Given the description of an element on the screen output the (x, y) to click on. 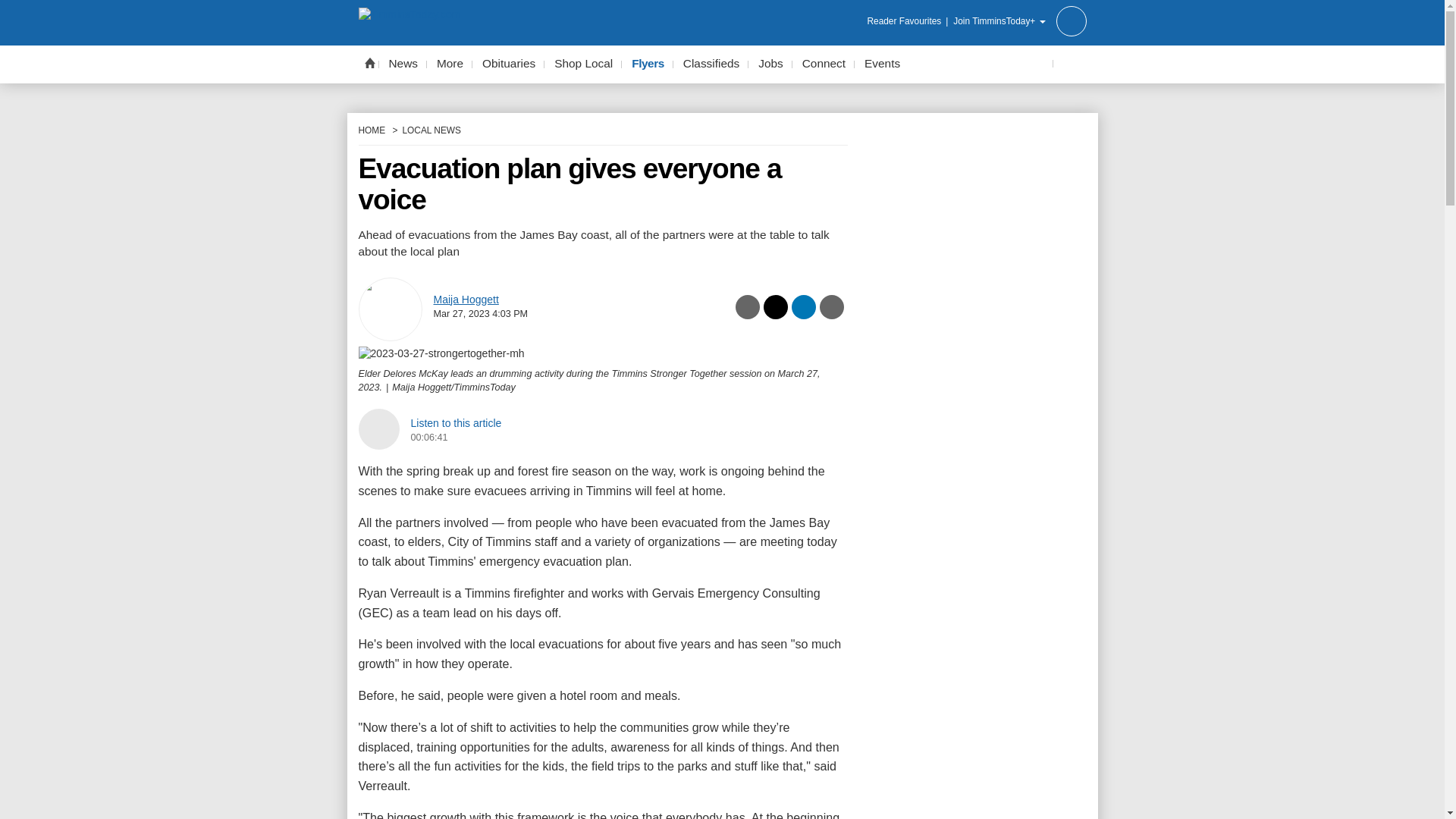
Reader Favourites (908, 21)
News (403, 64)
Home (368, 62)
